Given the description of an element on the screen output the (x, y) to click on. 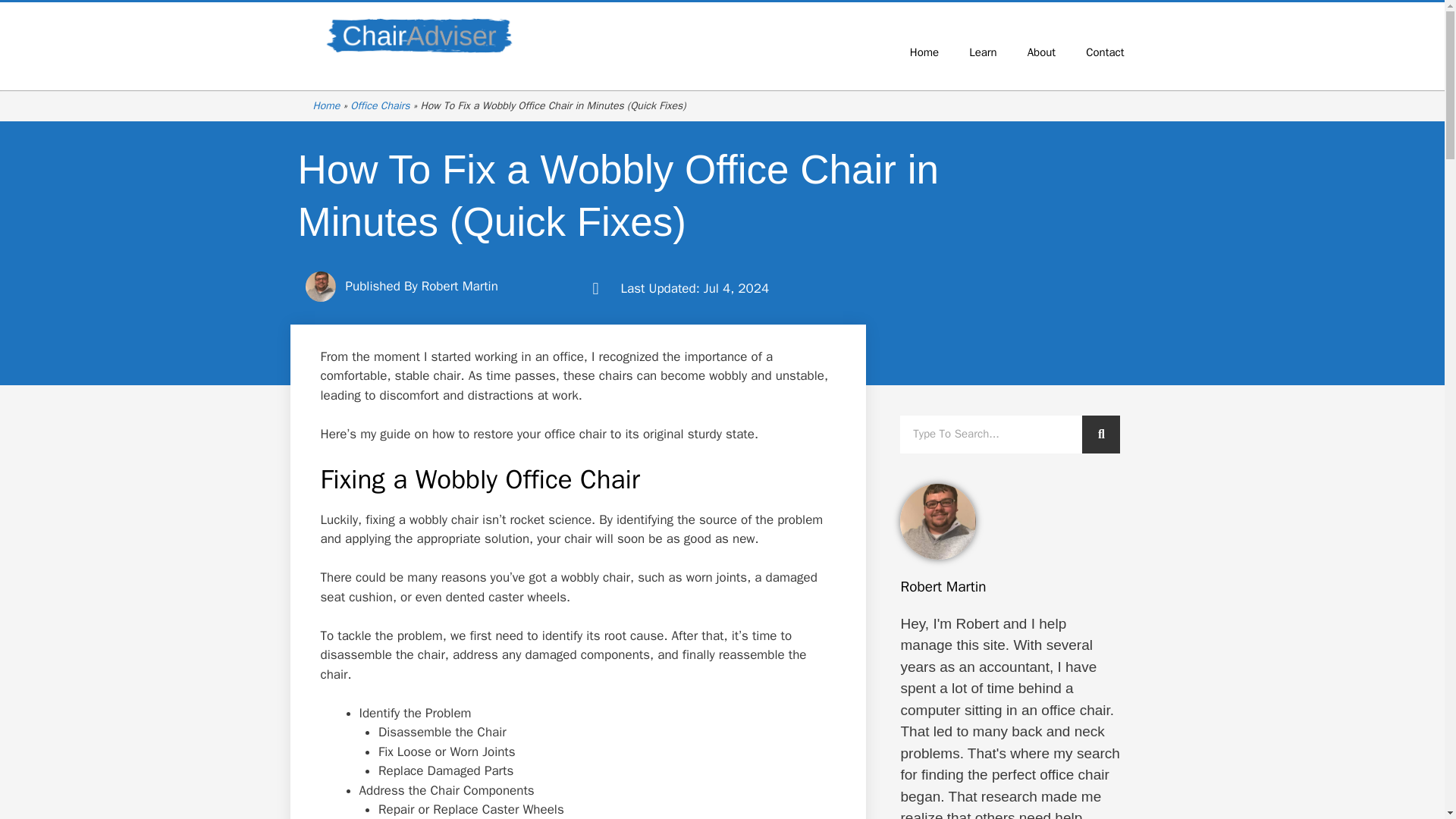
Contact (1104, 52)
Search (1100, 434)
Office Chairs (379, 105)
Learn (982, 52)
Home (326, 105)
Search (990, 434)
Published By Robert Martin (400, 286)
About (1040, 52)
Home (924, 52)
